Given the description of an element on the screen output the (x, y) to click on. 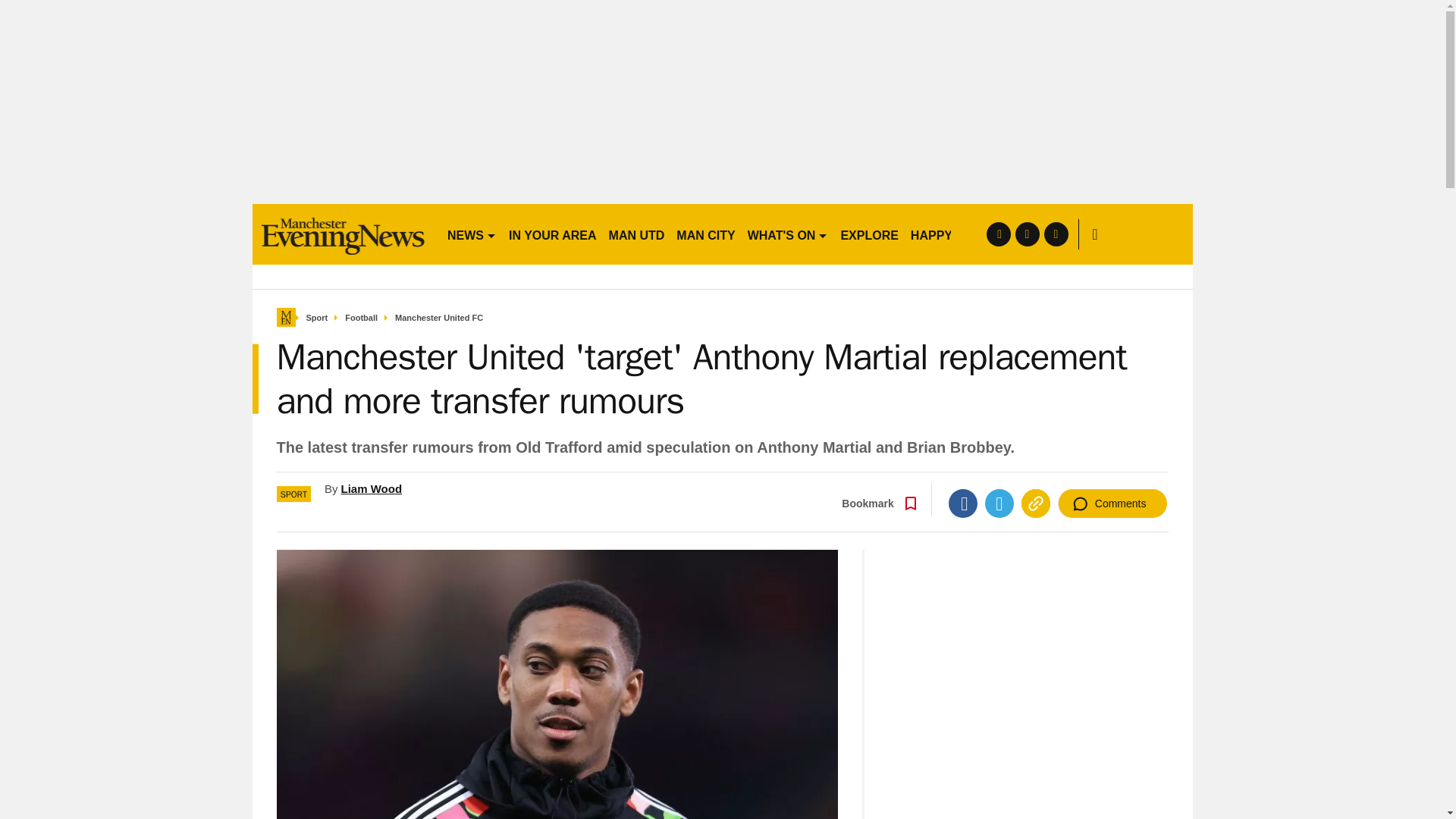
NEWS (471, 233)
facebook (997, 233)
IN YOUR AREA (552, 233)
twitter (1026, 233)
MAN CITY (705, 233)
WHAT'S ON (787, 233)
instagram (1055, 233)
Comments (1112, 502)
Twitter (999, 502)
Facebook (962, 502)
